Given the description of an element on the screen output the (x, y) to click on. 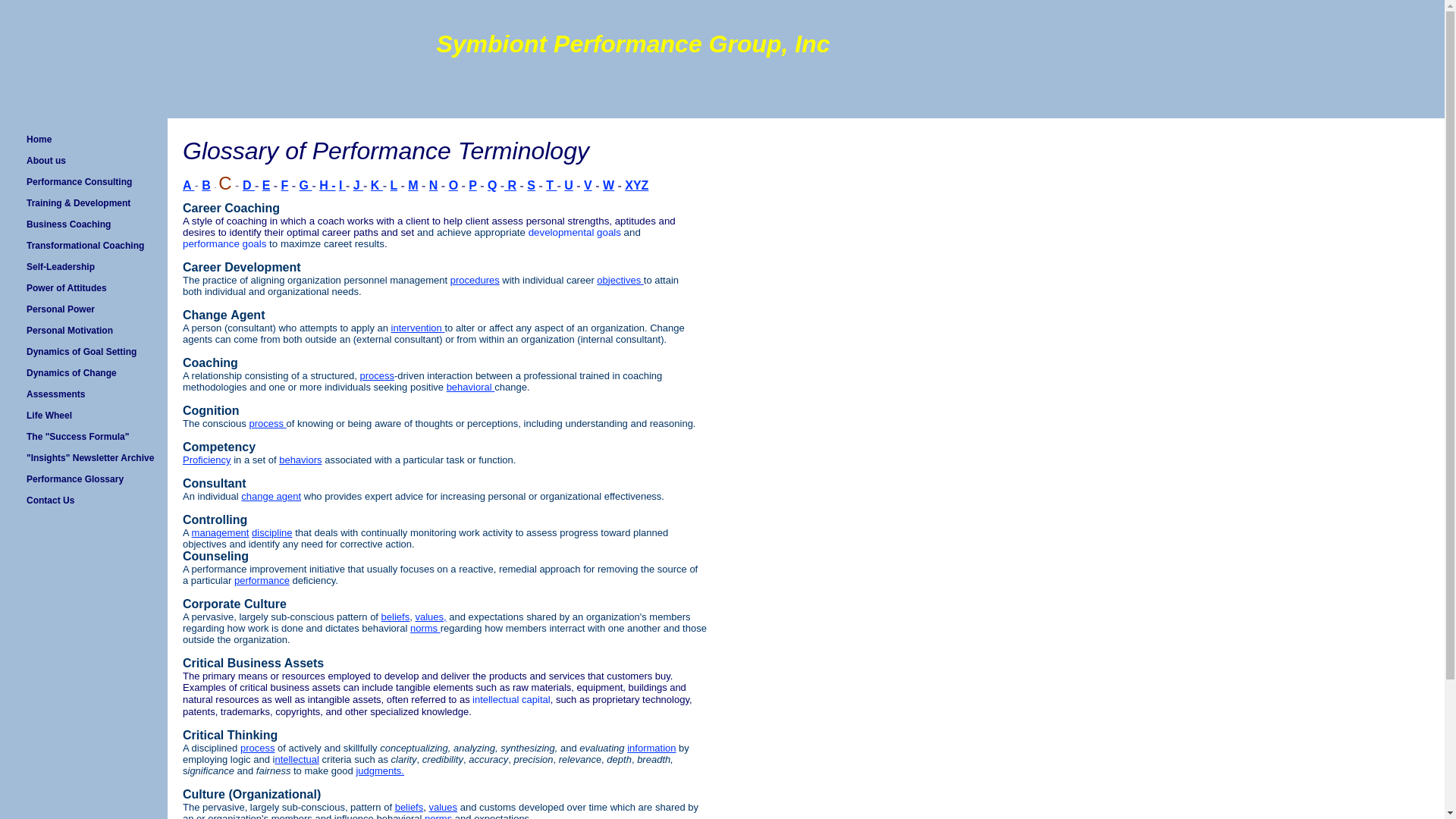
Performance Consulting (83, 181)
Life Wheel (83, 415)
G  (306, 185)
Dynamics of Change (83, 373)
E (266, 186)
Self-Leadership (83, 266)
Transformational Coaching (83, 245)
"Insights" Newsletter Archive (83, 457)
Dynamics of Goal Setting (83, 351)
Home (83, 139)
H page (326, 185)
Contact Us (83, 500)
D (248, 186)
Business Coaching (83, 224)
A  (188, 186)
